Given the description of an element on the screen output the (x, y) to click on. 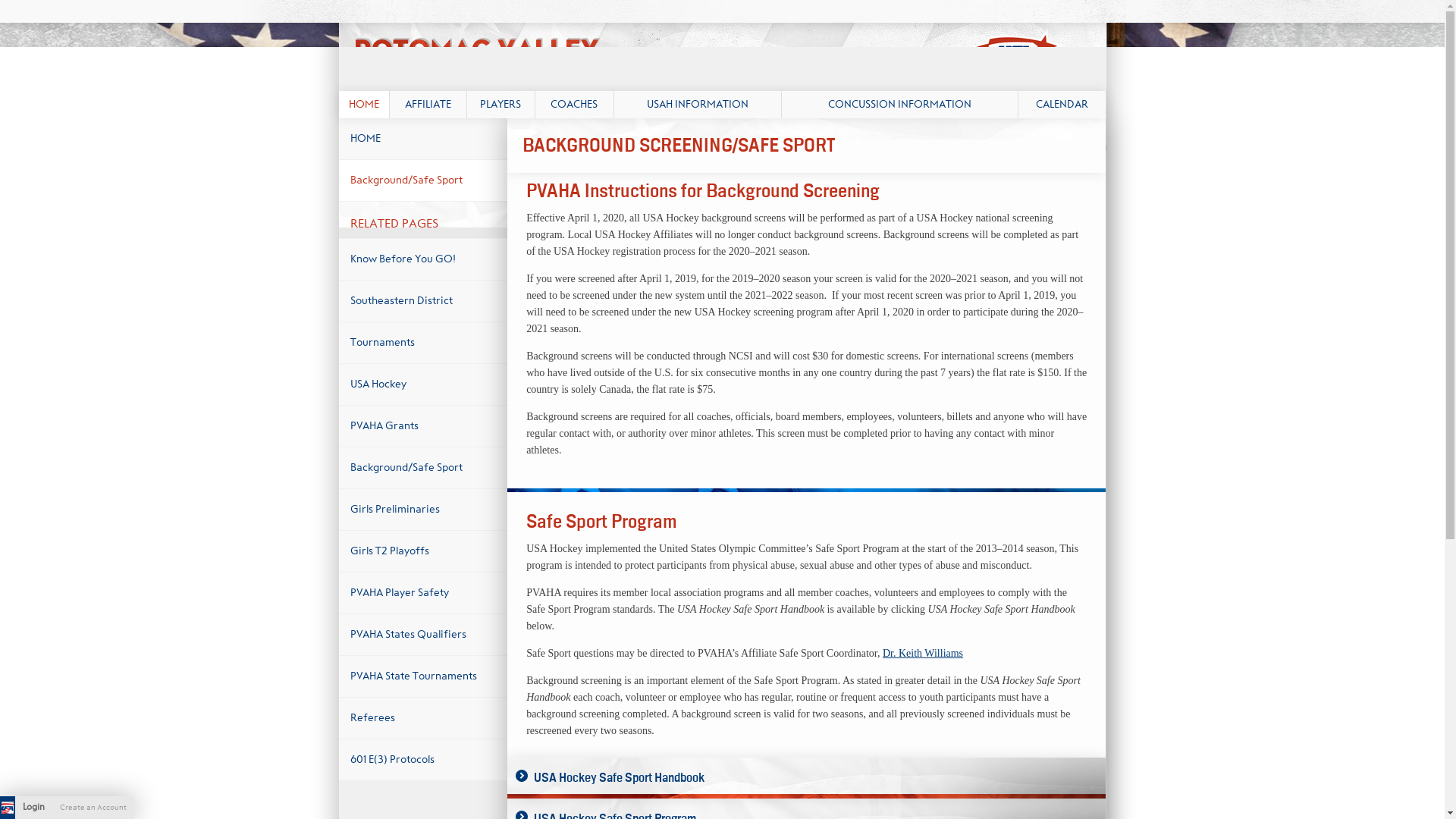
Login (33, 807)
Login (33, 807)
Potomac Valley Amateur Hockey Association (721, 56)
HOME (362, 103)
USA Hockey Home (395, 21)
Potomac Valley Amateur Hockey Association Homepage (7, 807)
Create an Account (92, 807)
Create an Account (92, 807)
Potomac Valley Amateur Hockey Association Homepage (721, 56)
